Given the description of an element on the screen output the (x, y) to click on. 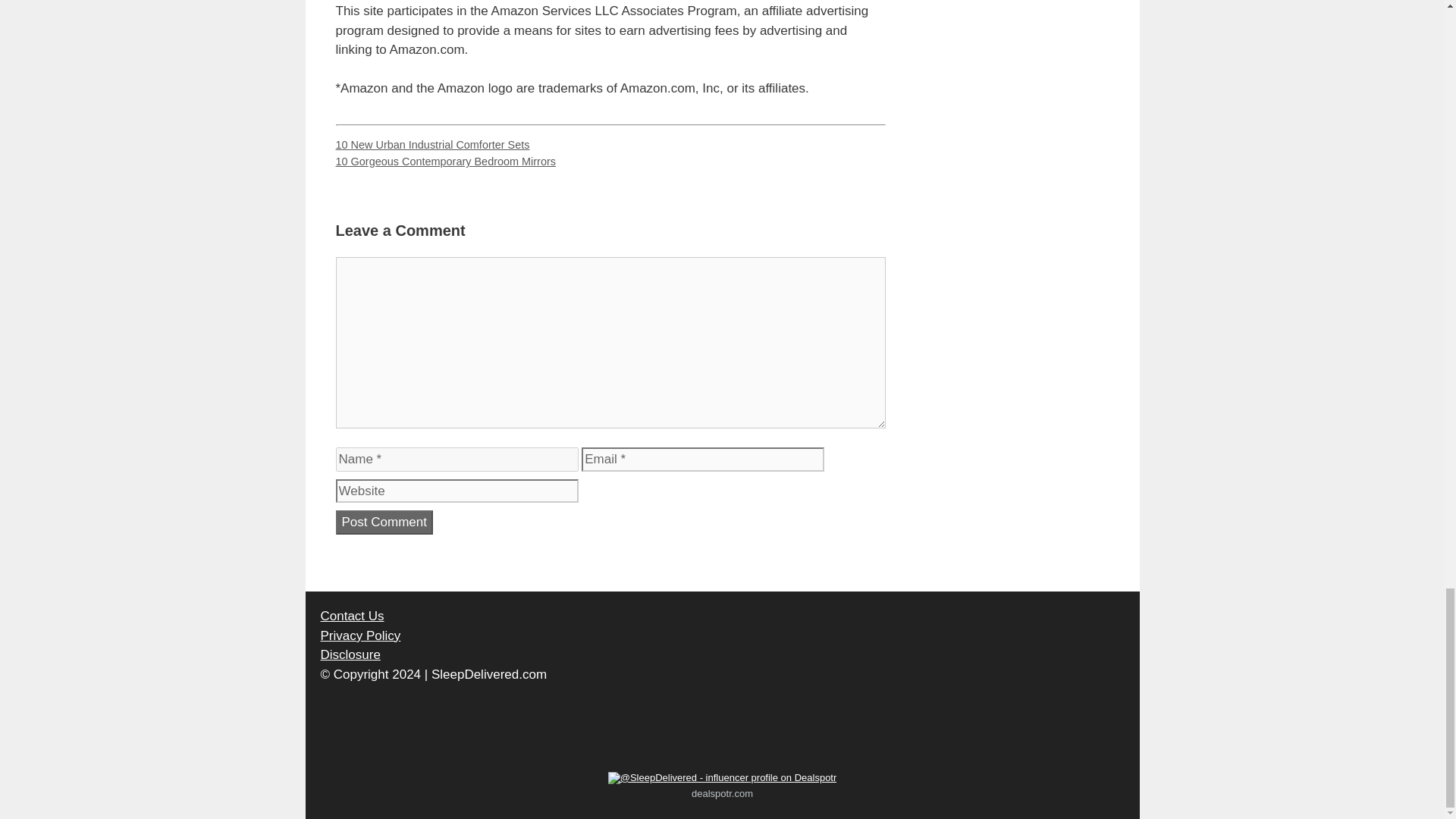
Post Comment (383, 522)
DMCA.com Protection Status (365, 742)
